Given the description of an element on the screen output the (x, y) to click on. 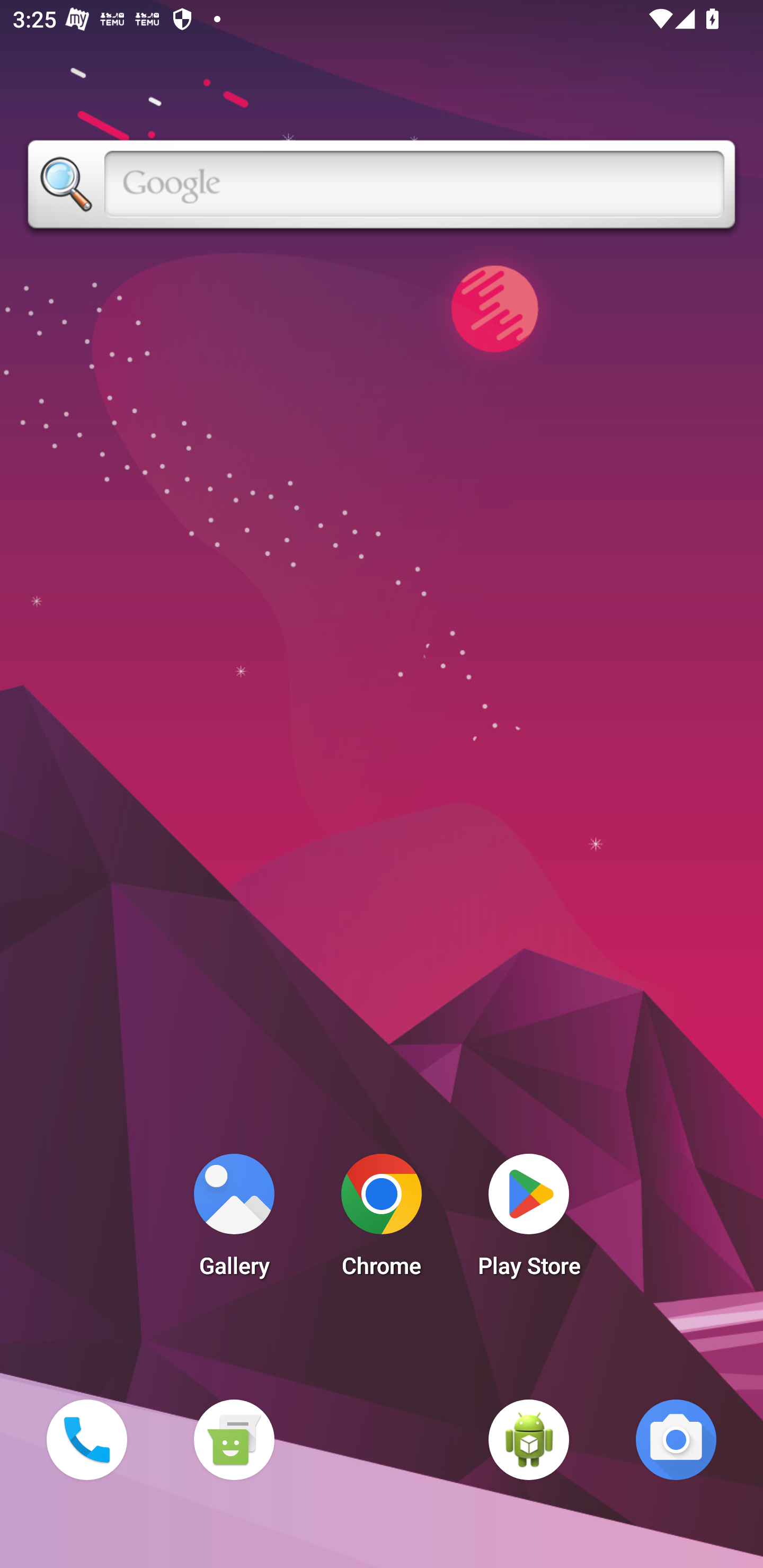
Gallery (233, 1220)
Chrome (381, 1220)
Play Store (528, 1220)
Phone (86, 1439)
Messaging (233, 1439)
WebView Browser Tester (528, 1439)
Camera (676, 1439)
